Given the description of an element on the screen output the (x, y) to click on. 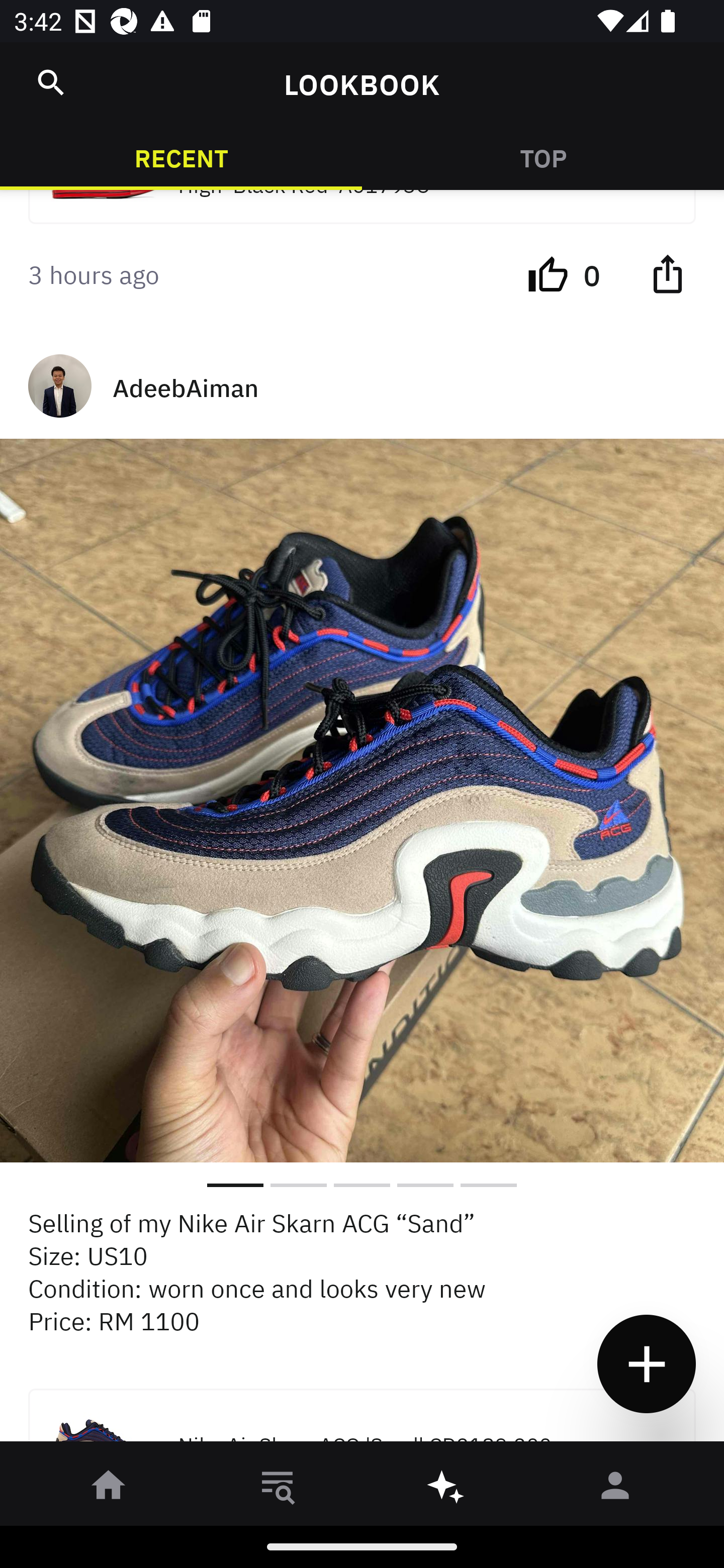
 (51, 82)
RECENT (181, 156)
TOP (543, 156)
󰔔 (547, 272)
 (667, 272)
󰋜 (108, 1488)
󱎸 (277, 1488)
󰫢 (446, 1488)
󰀄 (615, 1488)
